Given the description of an element on the screen output the (x, y) to click on. 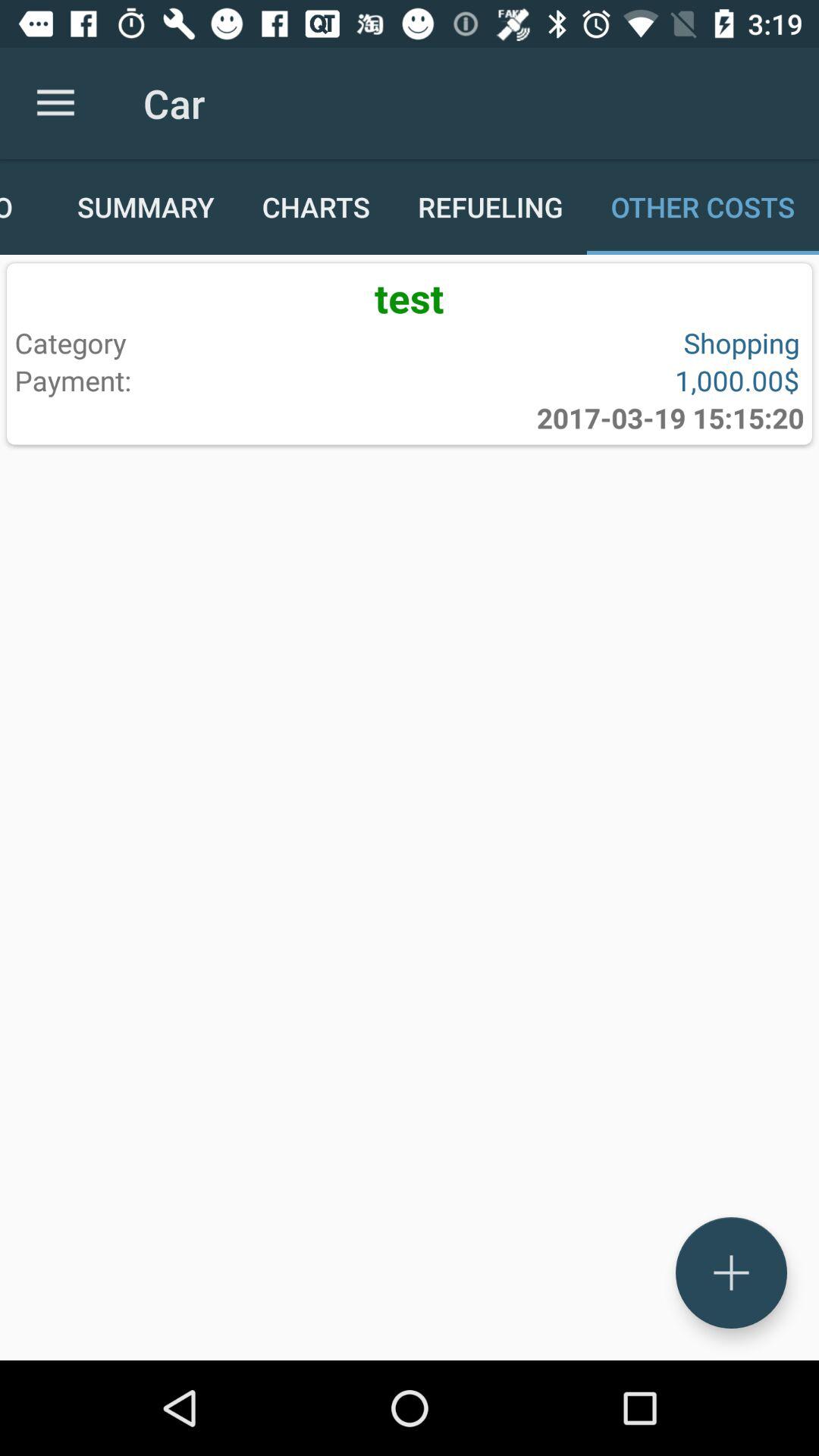
swipe to the test icon (409, 297)
